Given the description of an element on the screen output the (x, y) to click on. 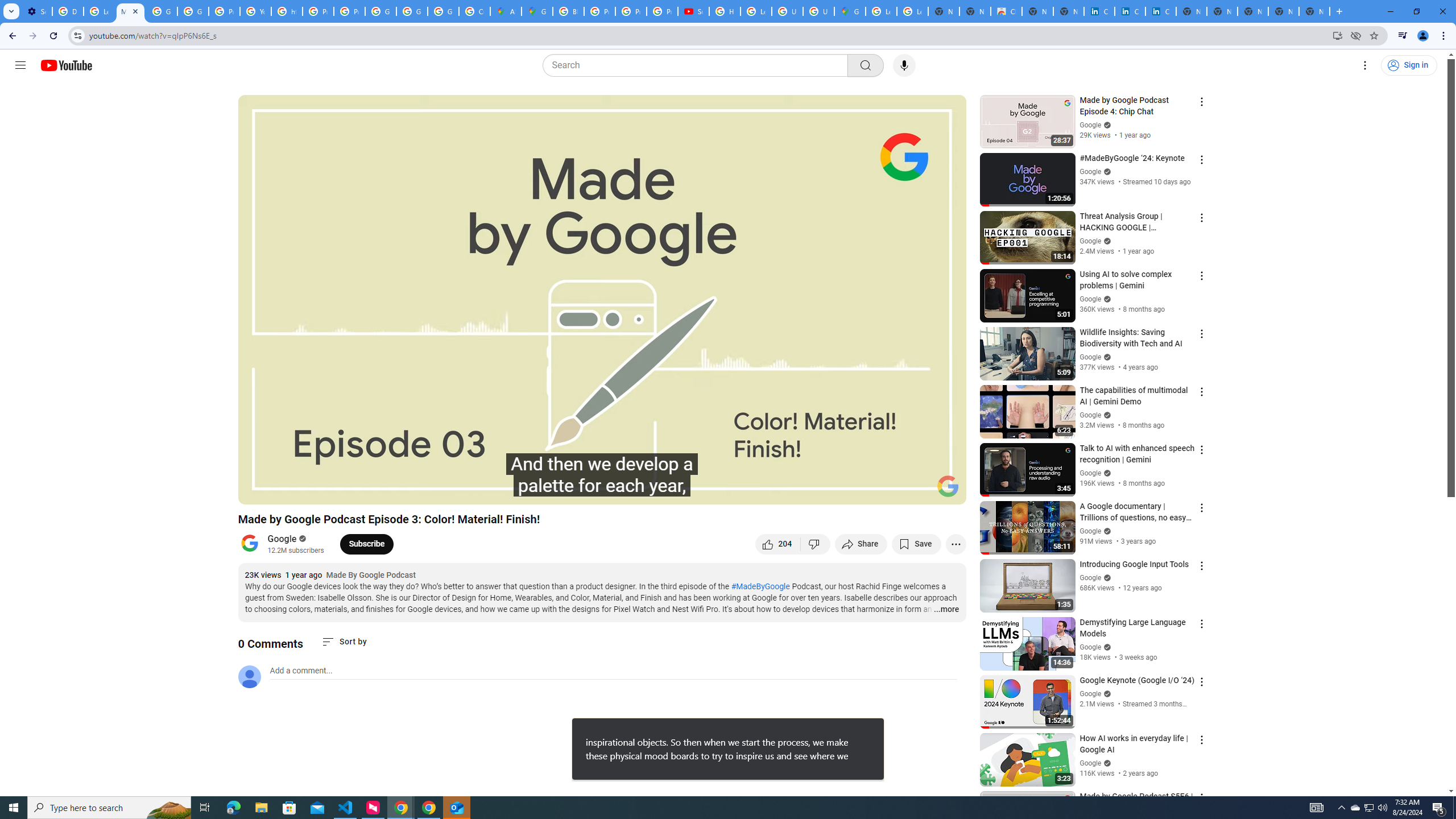
Default profile photo (248, 676)
Subscriptions - YouTube (693, 11)
Action menu (1200, 798)
Settings (863, 490)
https://scholar.google.com/ (286, 11)
Learn how to find your photos - Google Photos Help (98, 11)
Cookie Policy | LinkedIn (1129, 11)
Verified (1106, 762)
like this video along with 204 other people (777, 543)
